Given the description of an element on the screen output the (x, y) to click on. 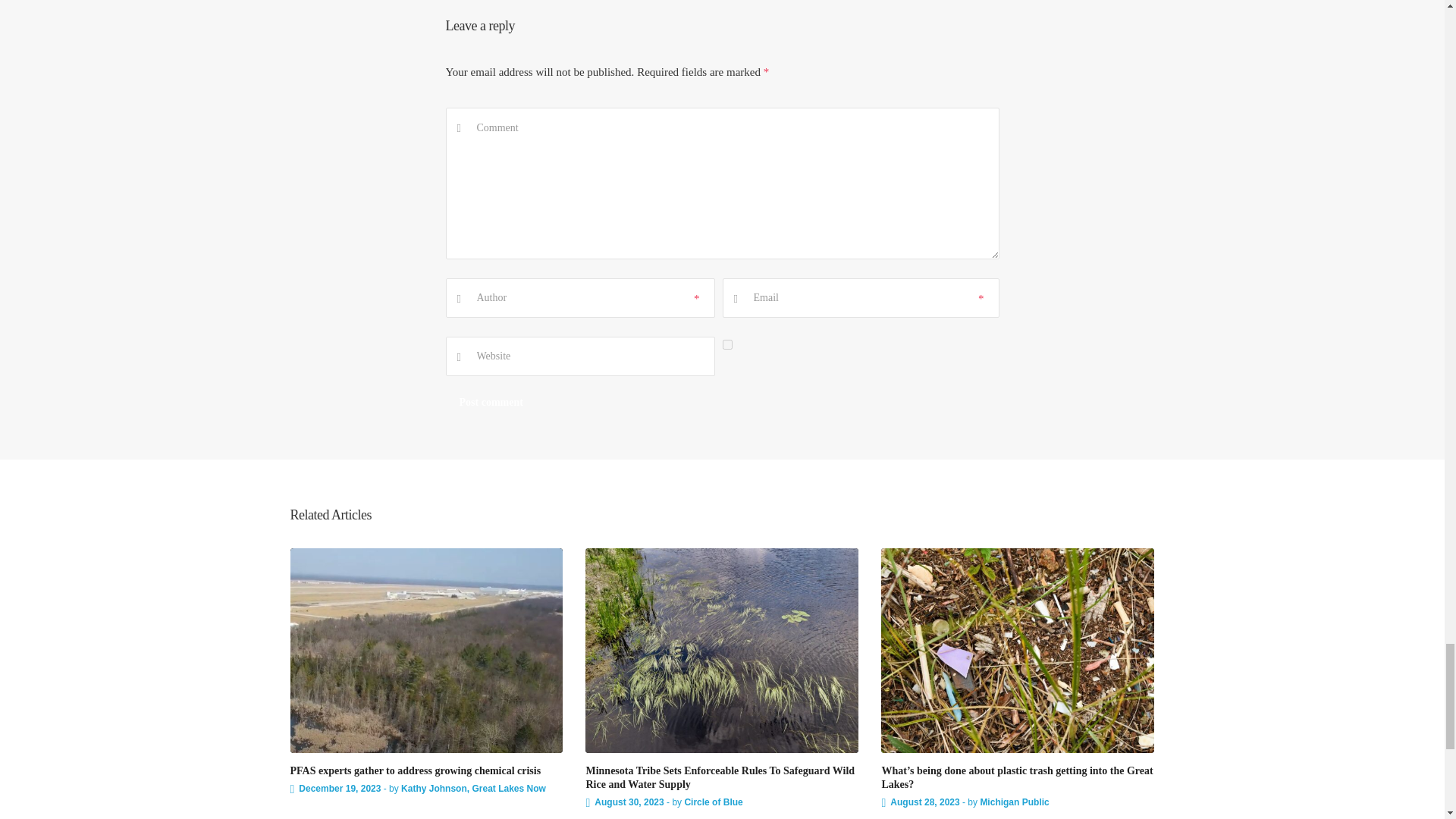
Post comment (491, 402)
yes (727, 344)
